Given the description of an element on the screen output the (x, y) to click on. 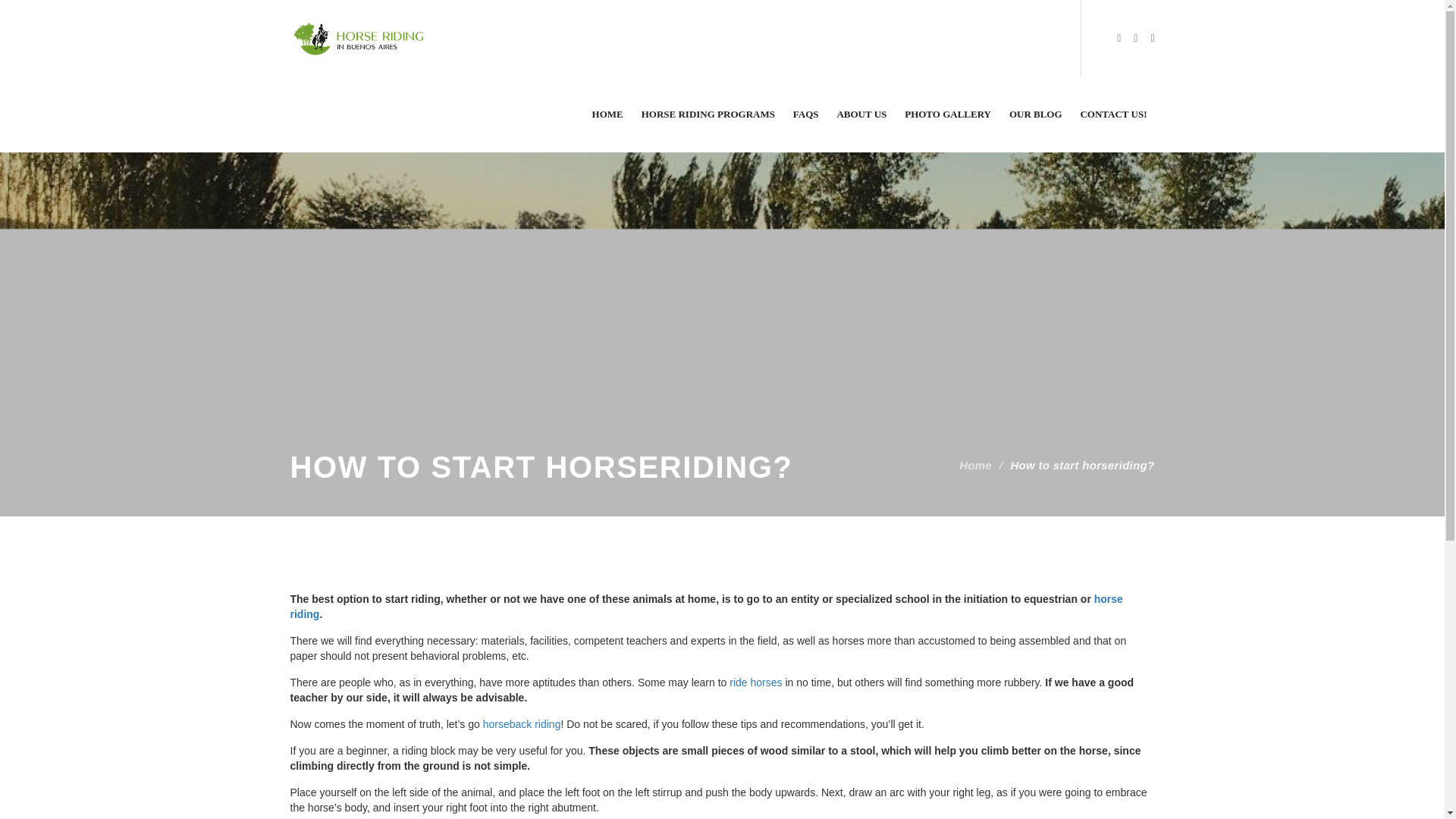
HORSE RIDING PROGRAMS (708, 114)
ride horses (755, 682)
PHOTO GALLERY (947, 114)
horseback riding (521, 724)
horse riding (705, 605)
